Given the description of an element on the screen output the (x, y) to click on. 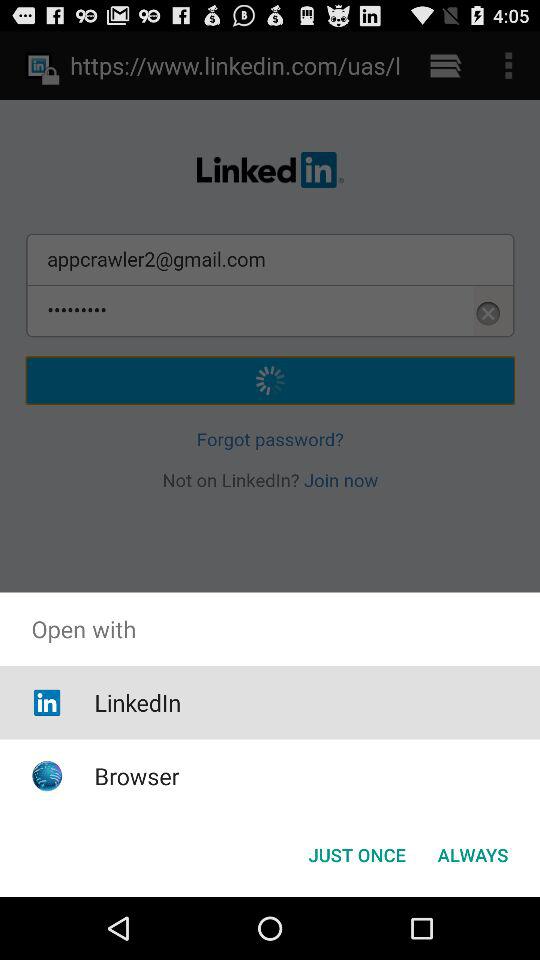
turn on item below linkedin icon (136, 775)
